Given the description of an element on the screen output the (x, y) to click on. 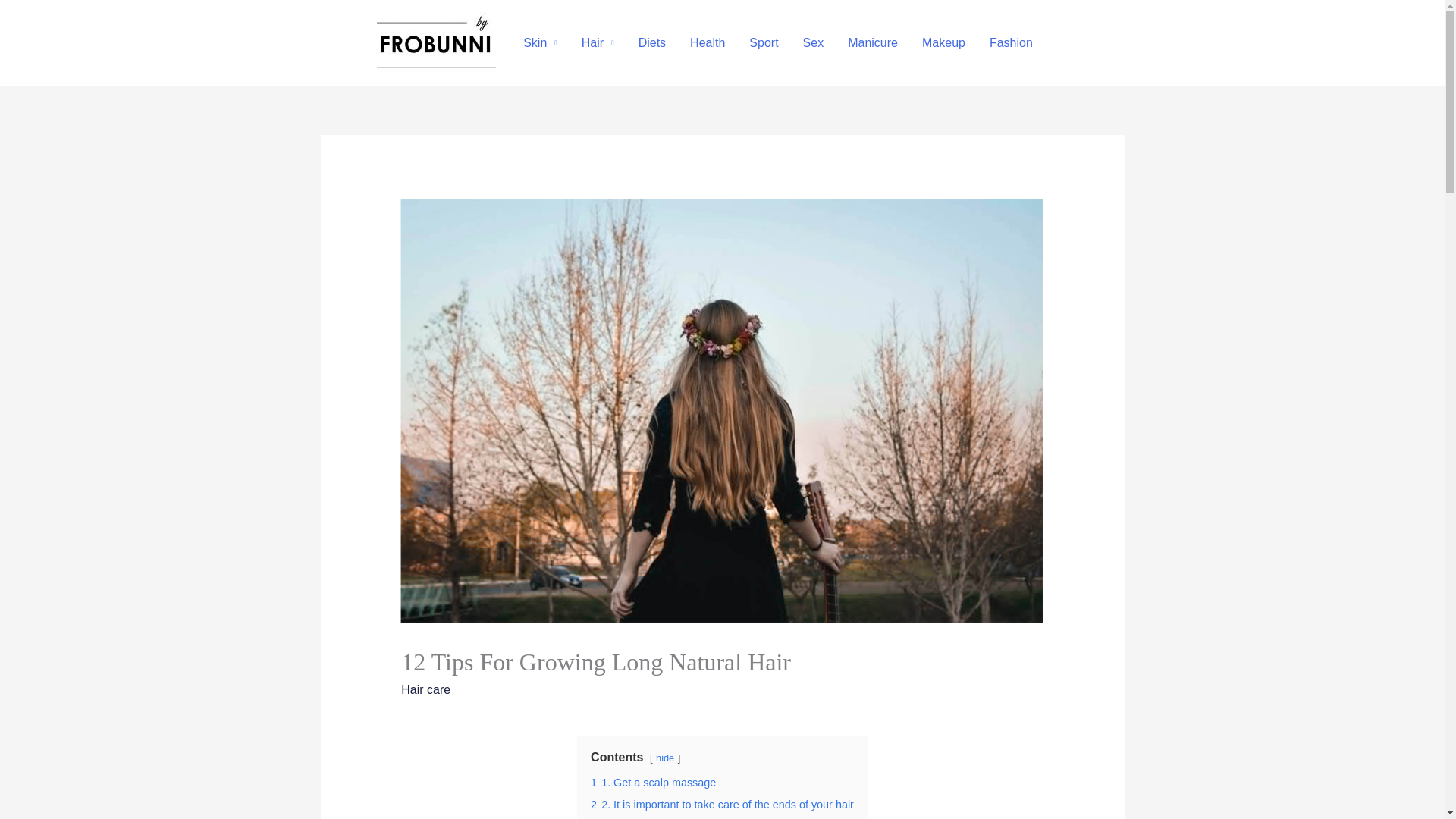
2 2. It is important to take care of the ends of your hair (722, 804)
Hair (597, 42)
hide (665, 757)
Hair care (425, 689)
Skin (540, 42)
Manicure (872, 42)
Makeup (943, 42)
Health (707, 42)
Fashion (1010, 42)
Diets (652, 42)
Sport (763, 42)
1 1. Get a scalp massage (653, 782)
